Given the description of an element on the screen output the (x, y) to click on. 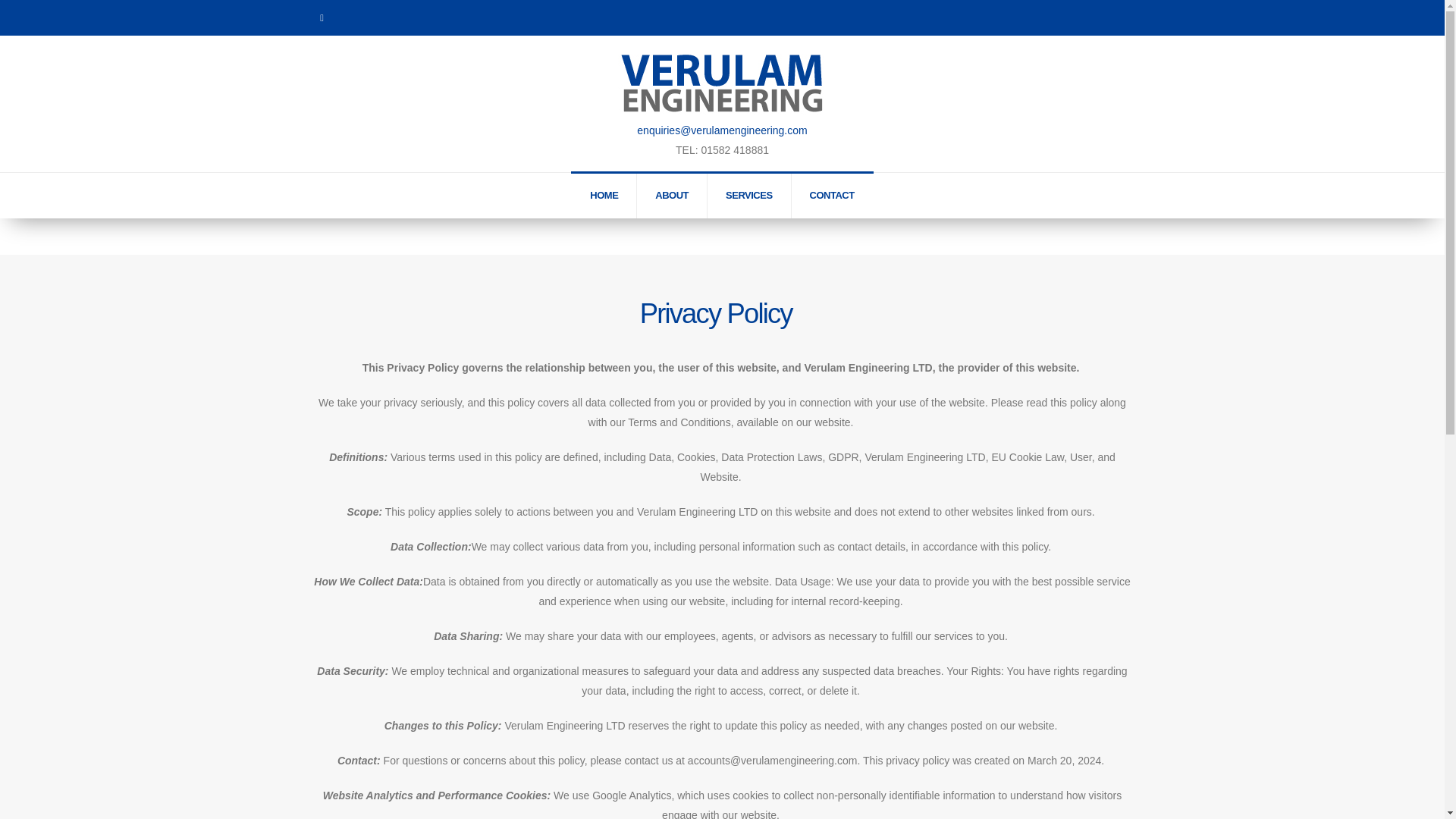
TEL: 01582 418881 (721, 149)
CONTACT (832, 195)
HOME (604, 195)
ABOUT (672, 195)
Linkedin (321, 17)
SERVICES (749, 195)
